Given the description of an element on the screen output the (x, y) to click on. 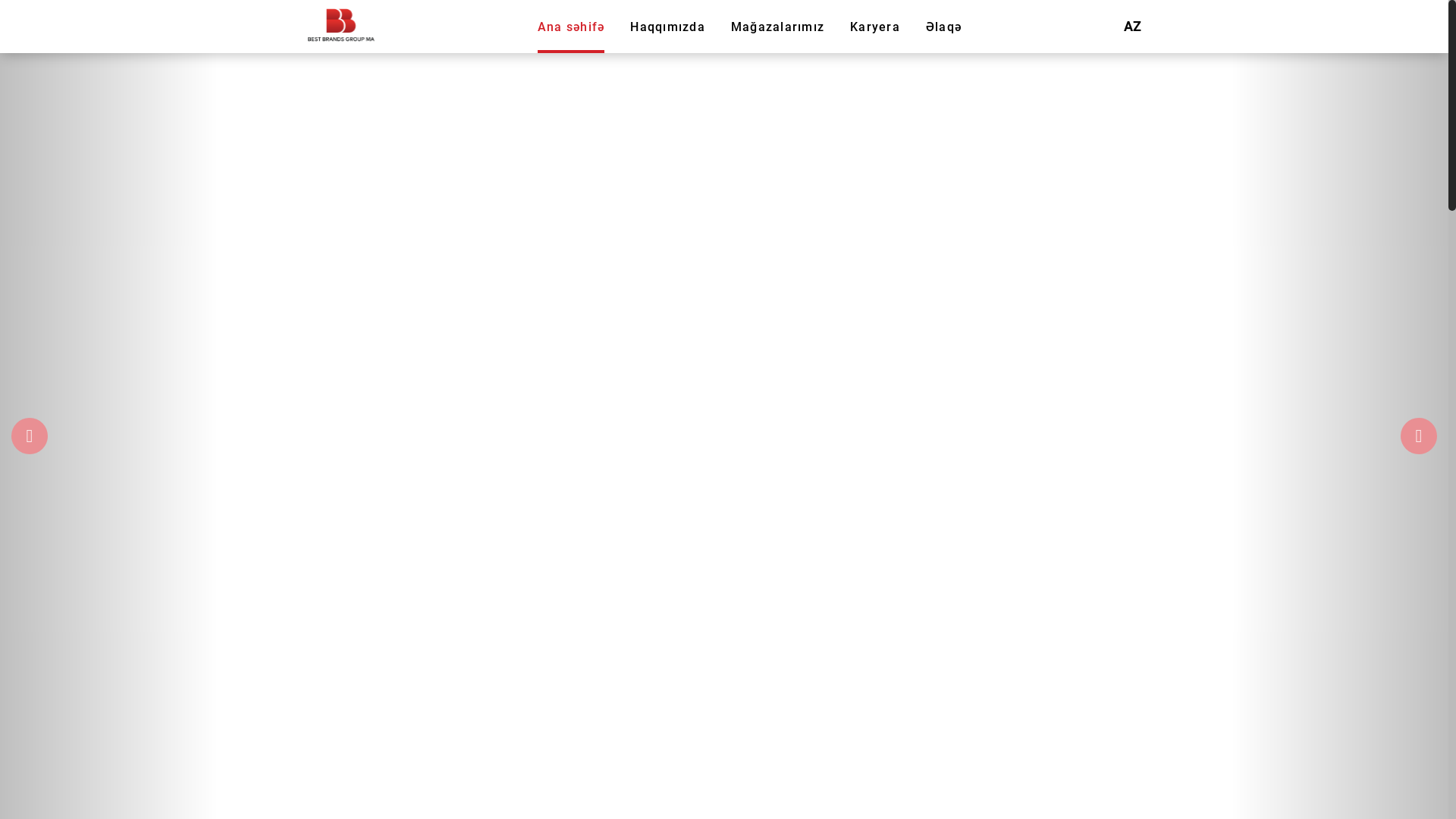
Karyera Element type: text (875, 26)
